Given the description of an element on the screen output the (x, y) to click on. 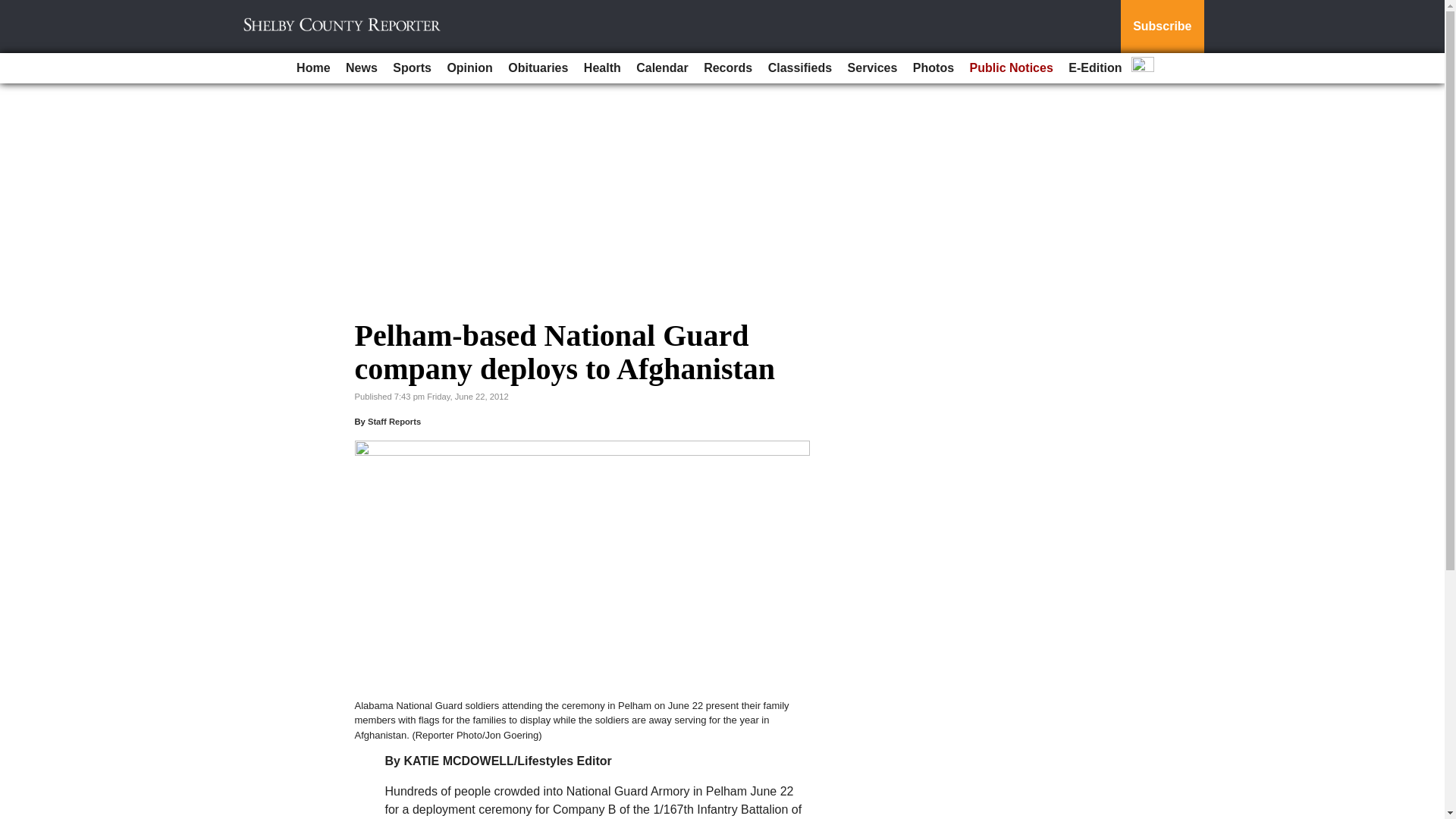
Calendar (662, 68)
Home (312, 68)
Services (872, 68)
Health (602, 68)
Opinion (469, 68)
Sports (412, 68)
Obituaries (537, 68)
Records (727, 68)
Classifieds (799, 68)
News (361, 68)
